Given the description of an element on the screen output the (x, y) to click on. 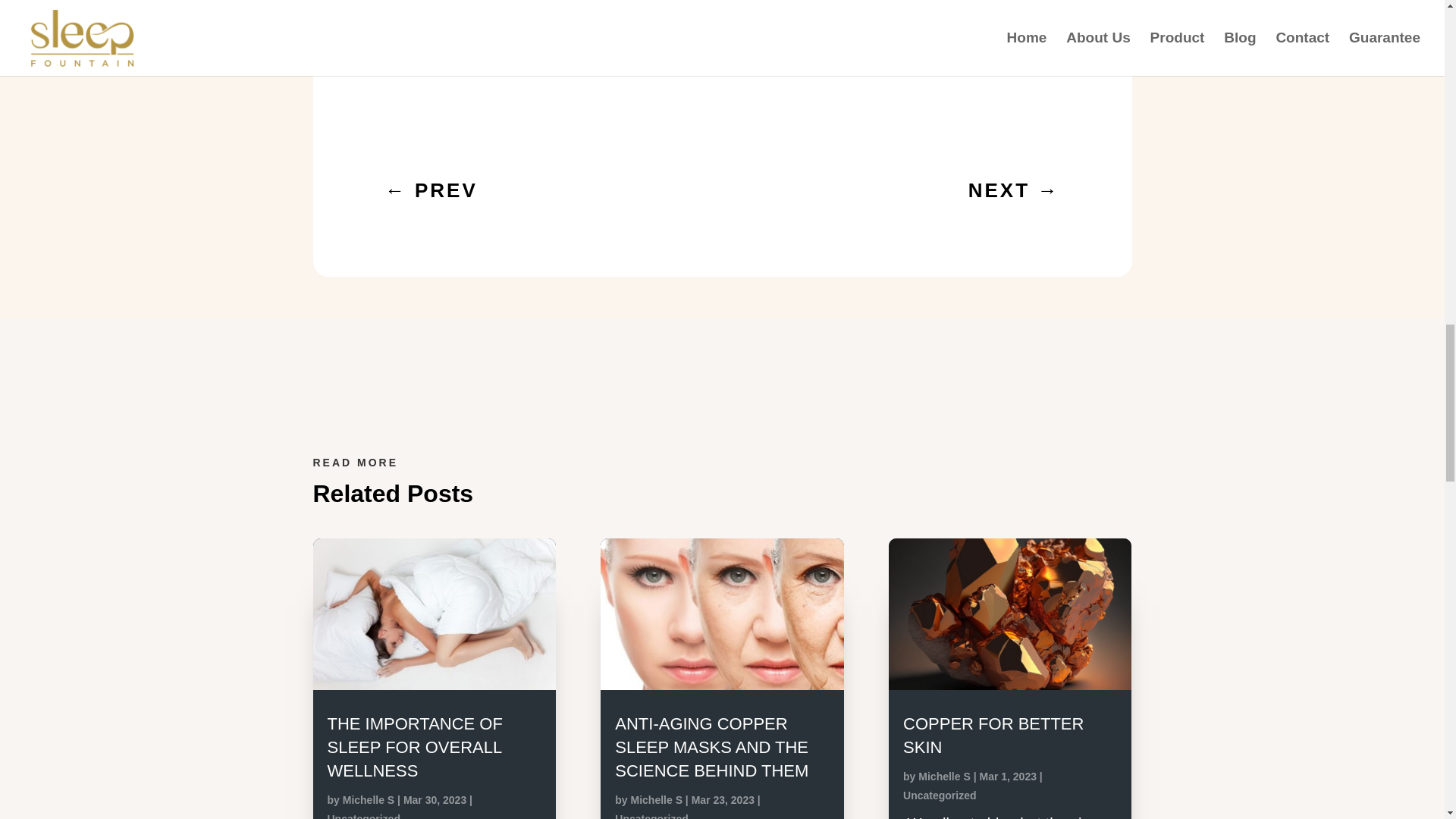
Uncategorized (938, 795)
Posts by Michelle S (656, 799)
COPPER FOR BETTER SKIN (992, 735)
Michelle S (656, 799)
Uncategorized (650, 816)
Posts by Michelle S (943, 776)
Michelle S (943, 776)
Uncategorized (363, 816)
ANTI-AGING COPPER SLEEP MASKS AND THE SCIENCE BEHIND THEM (711, 747)
Posts by Michelle S (368, 799)
Michelle S (368, 799)
THE IMPORTANCE OF SLEEP FOR OVERALL WELLNESS (414, 747)
